Given the description of an element on the screen output the (x, y) to click on. 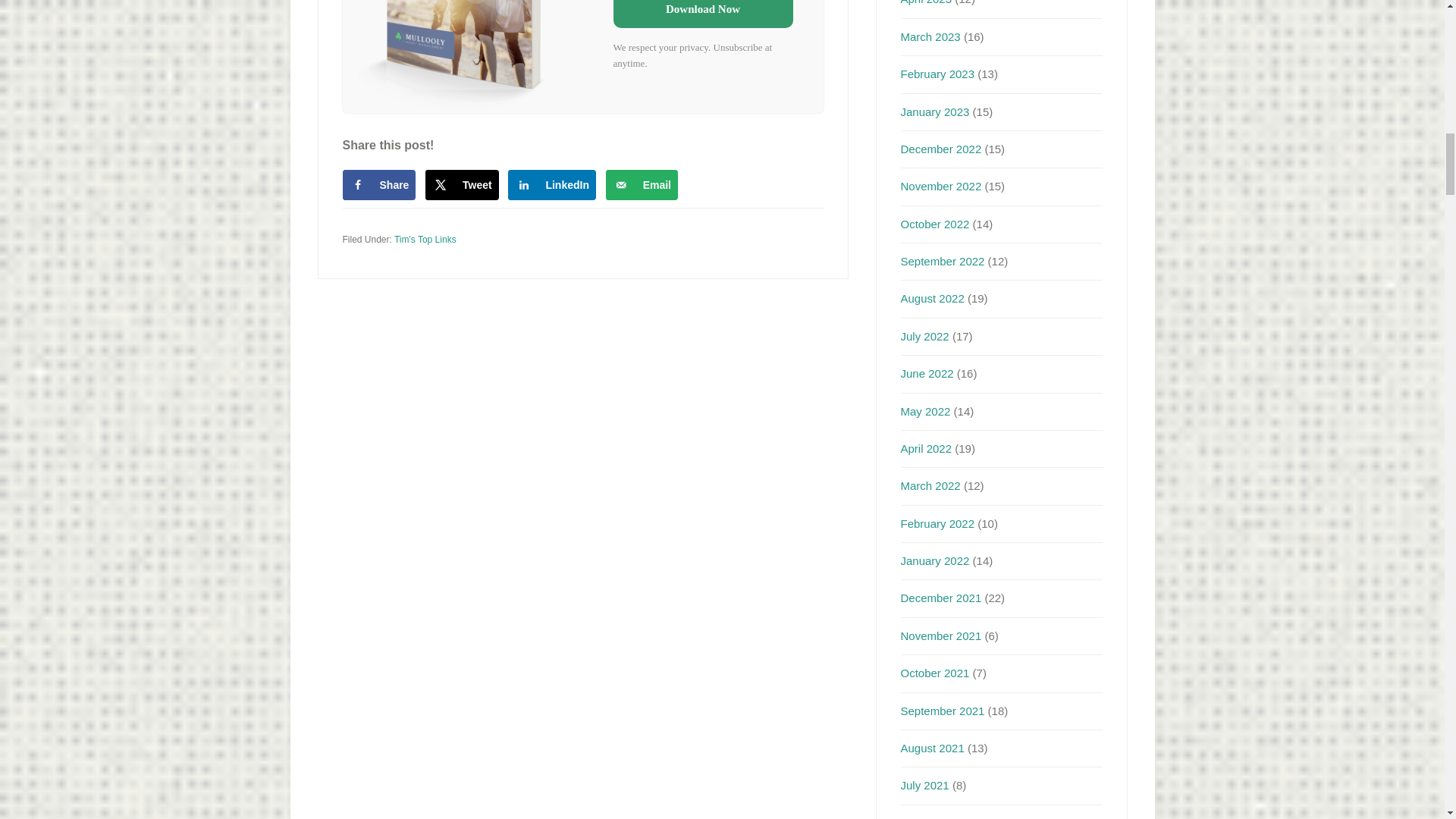
Share (379, 184)
Tweet (462, 184)
LinkedIn (551, 184)
Share on Facebook (379, 184)
Share on X (462, 184)
Send over email (641, 184)
Tim's Top Links (425, 239)
Download Now (702, 13)
Share on LinkedIn (551, 184)
Email (641, 184)
